Given the description of an element on the screen output the (x, y) to click on. 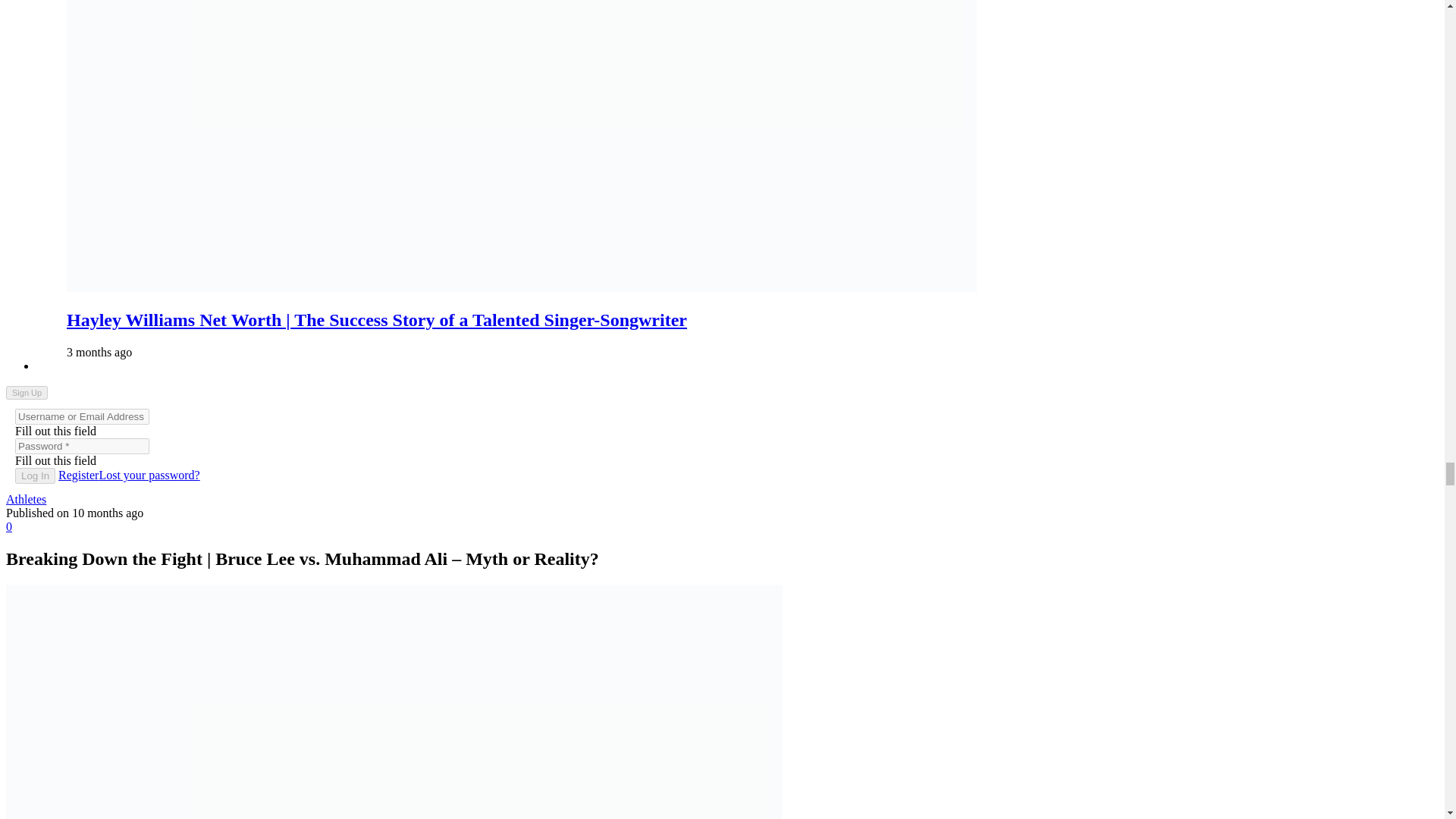
0 (8, 526)
